Given the description of an element on the screen output the (x, y) to click on. 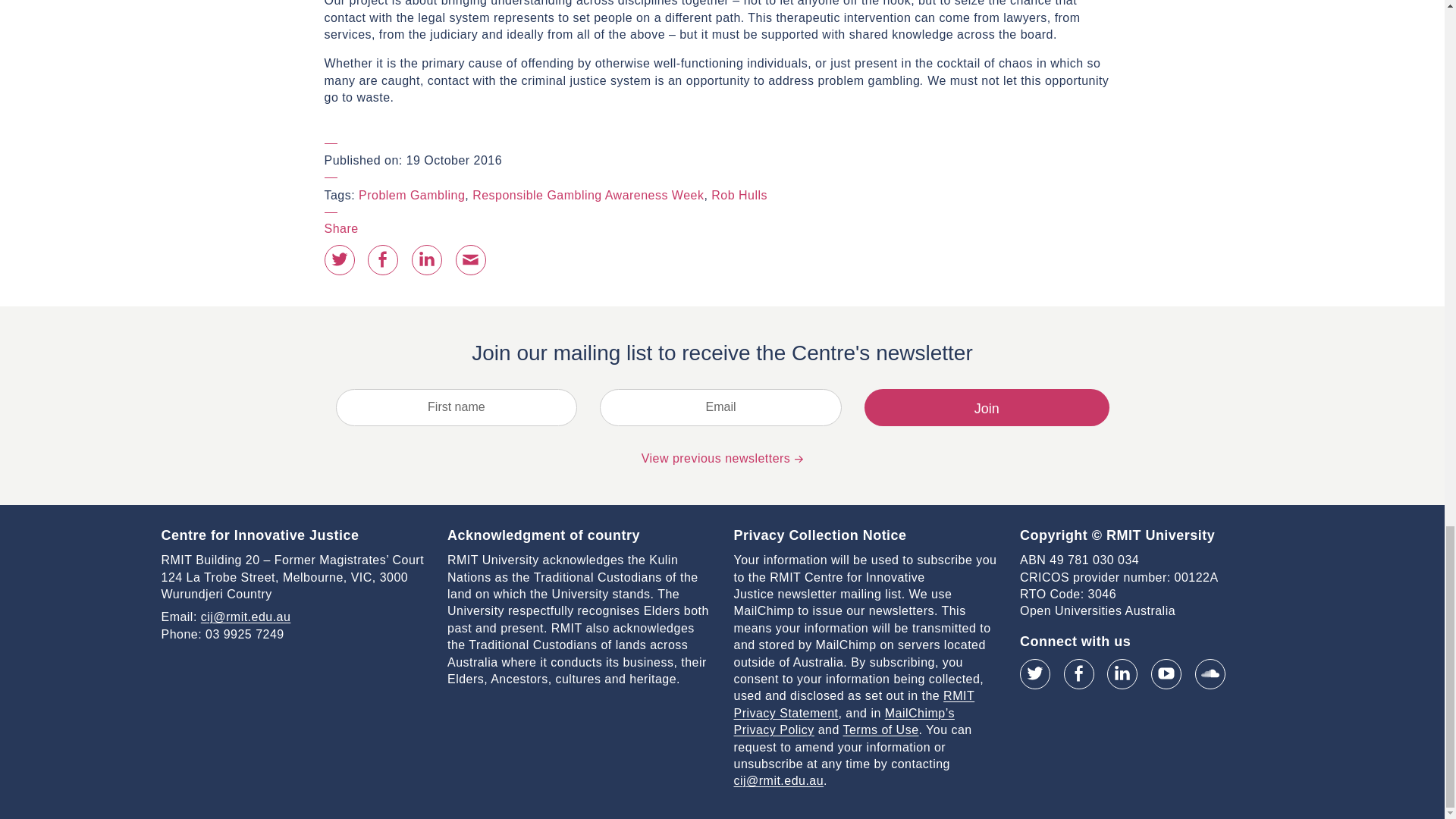
Facebook (1079, 674)
Share on Twitter (339, 259)
View previous newsletters (722, 458)
Join (986, 407)
SoundCloud (1210, 674)
Share on LinkedIn (427, 259)
Share by email (470, 259)
Responsible Gambling Awareness Week (587, 195)
YouTube (1165, 674)
Rob Hulls (739, 195)
